Given the description of an element on the screen output the (x, y) to click on. 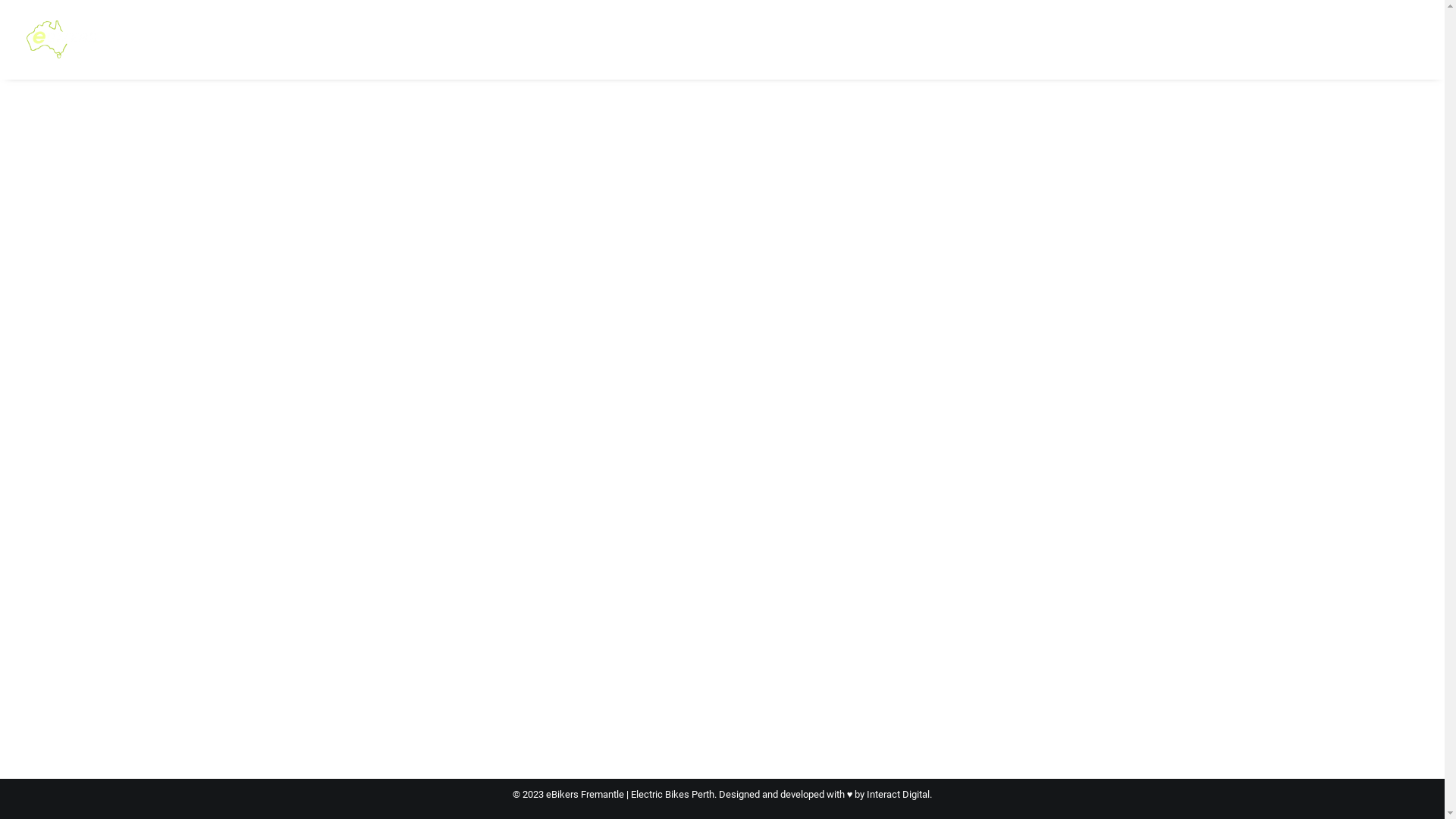
Interact Digital. Element type: text (898, 794)
TRIKES & QUADS Element type: text (775, 39)
OUR STORY Element type: text (953, 39)
SHOP Element type: text (1133, 39)
ELECTRIC BIKES Element type: text (667, 39)
SERVICE Element type: text (1073, 39)
HOME Element type: text (588, 39)
cart Element type: hover (1407, 39)
PRO E-MTB Element type: text (870, 39)
CONTACT Element type: text (1218, 39)
FAQ Element type: text (1017, 39)
